Given the description of an element on the screen output the (x, y) to click on. 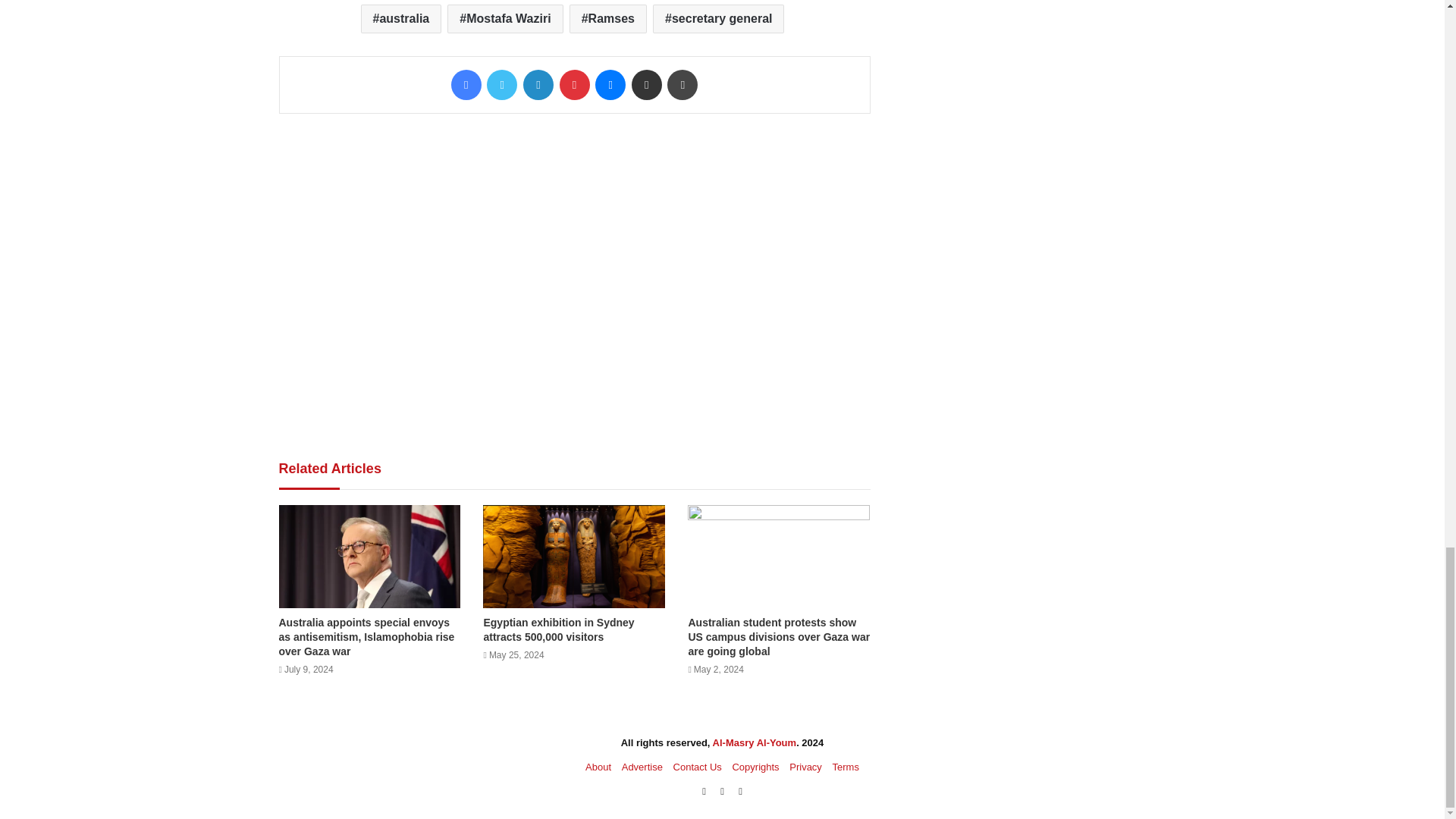
australia (401, 18)
Messenger (610, 84)
Messenger (610, 84)
Mostafa Waziri (504, 18)
Pinterest (574, 84)
Ramses (607, 18)
Twitter (501, 84)
Twitter (501, 84)
secretary general (718, 18)
Print (681, 84)
